Given the description of an element on the screen output the (x, y) to click on. 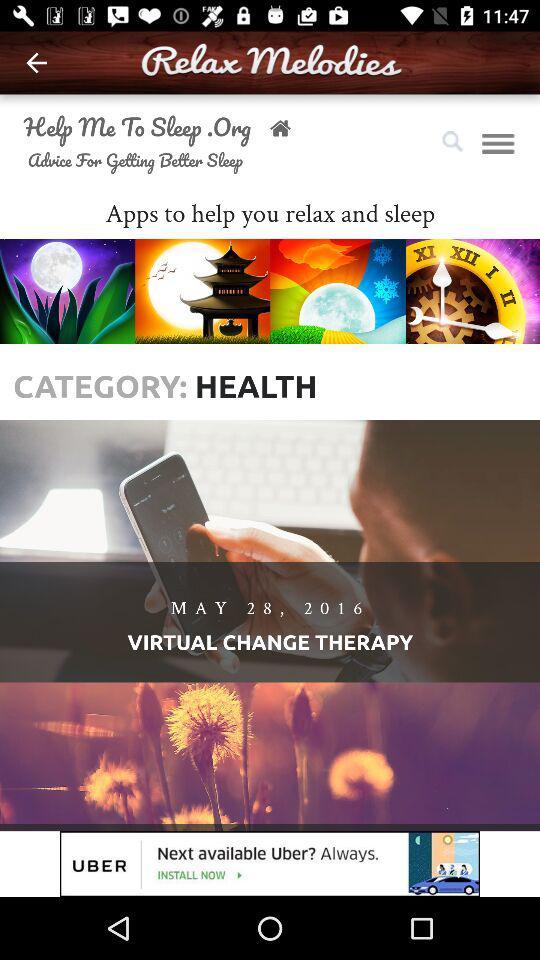
click advertisement (270, 864)
